Given the description of an element on the screen output the (x, y) to click on. 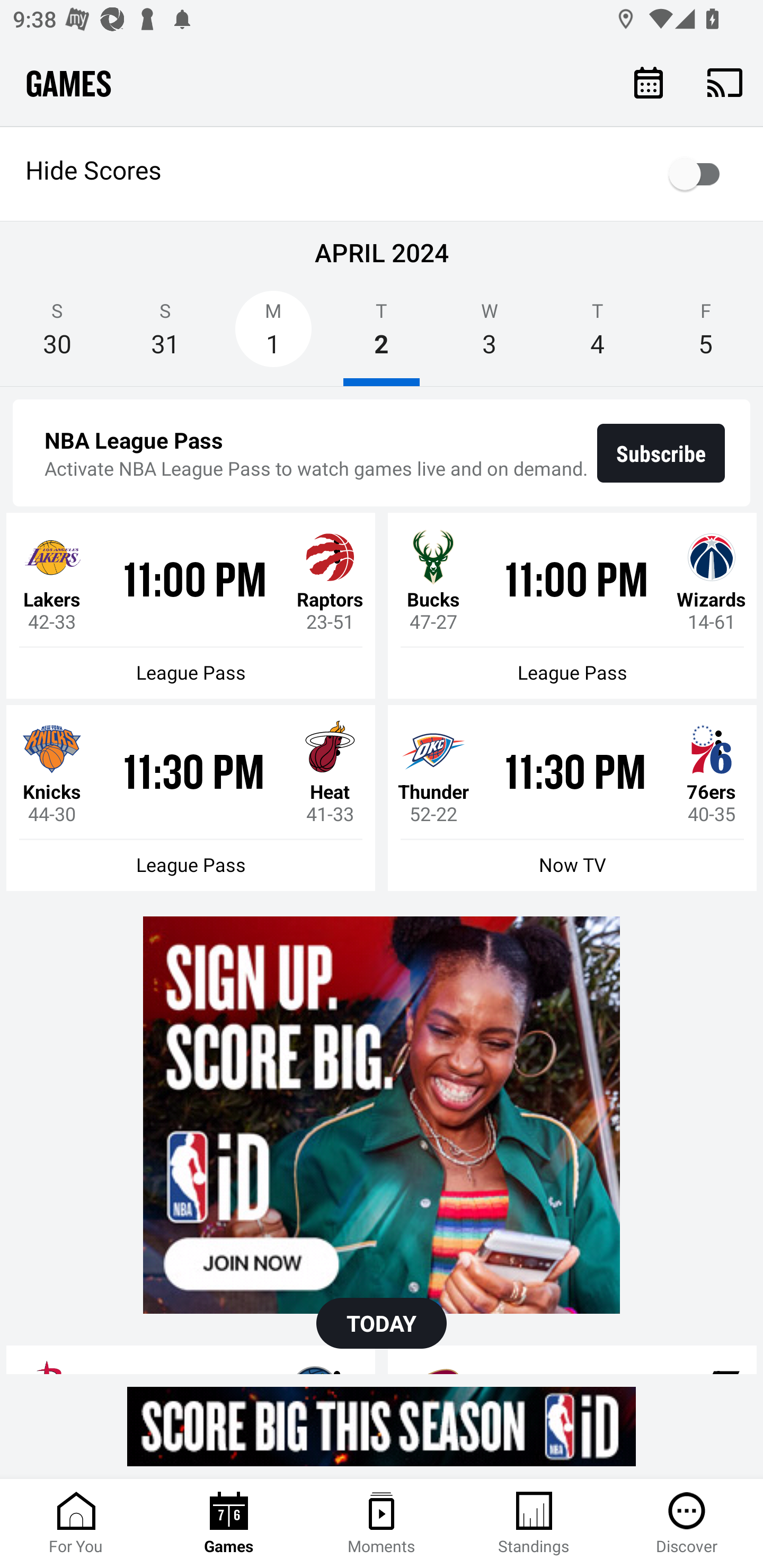
Cast. Disconnected (724, 82)
Calendar (648, 81)
Hide Scores (381, 174)
S 30 (57, 334)
S 31 (165, 334)
M 1 (273, 334)
T 2 (381, 334)
W 3 (489, 334)
T 4 (597, 334)
F 5 (705, 334)
Subscribe (660, 452)
Lakers 42-33 11:00 PM Raptors 23-51 League Pass (190, 605)
Bucks 47-27 11:00 PM Wizards 14-61 League Pass (571, 605)
Knicks 44-30 11:30 PM Heat 41-33 League Pass (190, 797)
Thunder 52-22 11:30 PM 76ers 40-35 Now TV (571, 797)
g5nqqygr7owph (381, 1114)
TODAY (381, 1323)
g5nqqygr7owph (381, 1426)
For You (76, 1523)
Moments (381, 1523)
Standings (533, 1523)
Discover (686, 1523)
